Given the description of an element on the screen output the (x, y) to click on. 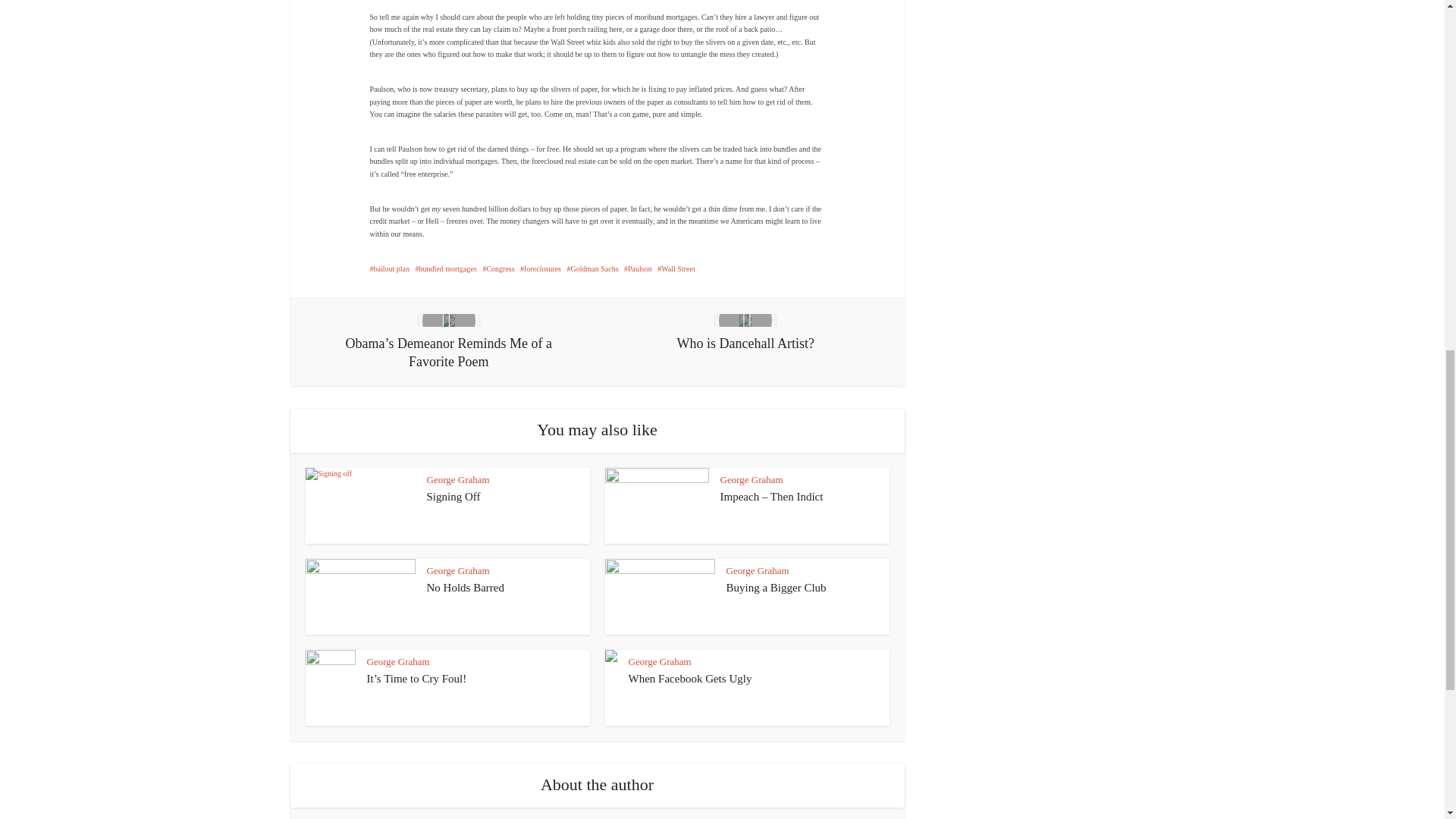
Buying a Bigger Club (776, 587)
bundled mortgages (445, 268)
Signing Off (453, 496)
George Graham (757, 570)
George Graham (457, 479)
No Holds Barred (464, 587)
Signing Off (453, 496)
Goldman Sachs (591, 268)
No Holds Barred (464, 587)
Buying a Bigger Club (776, 587)
